Given the description of an element on the screen output the (x, y) to click on. 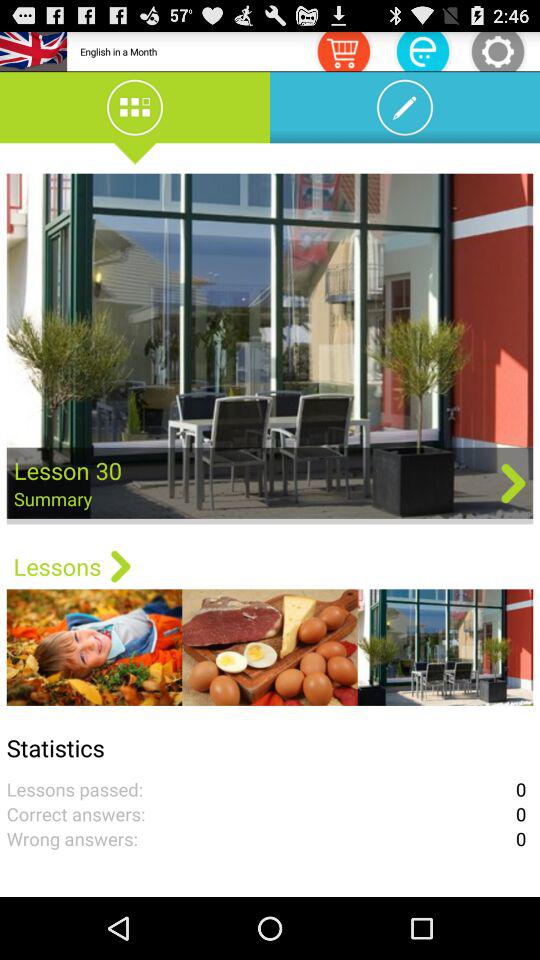
select the item to the right of the english in a (343, 50)
